Given the description of an element on the screen output the (x, y) to click on. 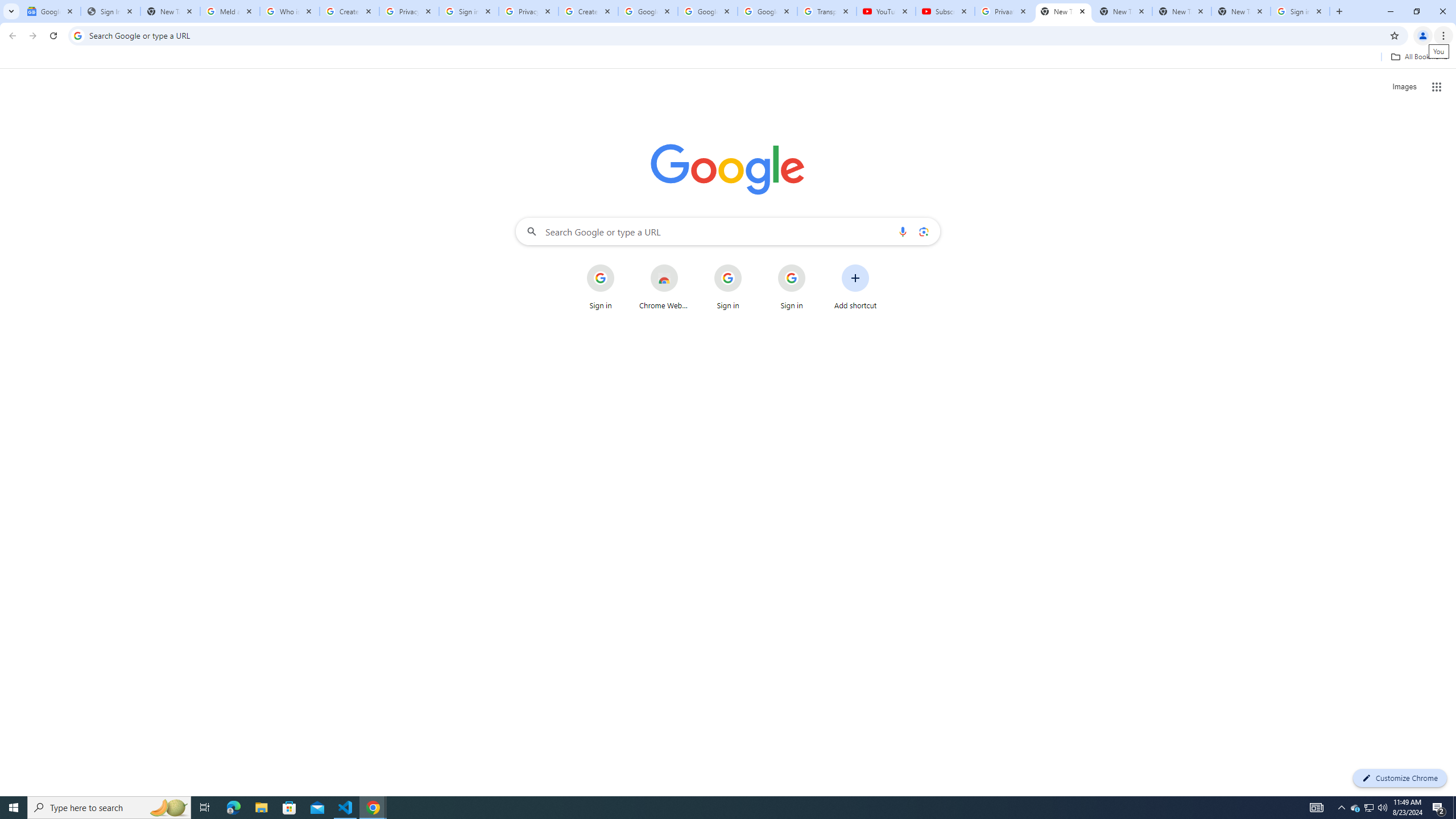
New Tab (1063, 11)
Google News (50, 11)
Chrome Web Store (663, 287)
Google Account (767, 11)
Subscriptions - YouTube (944, 11)
